Given the description of an element on the screen output the (x, y) to click on. 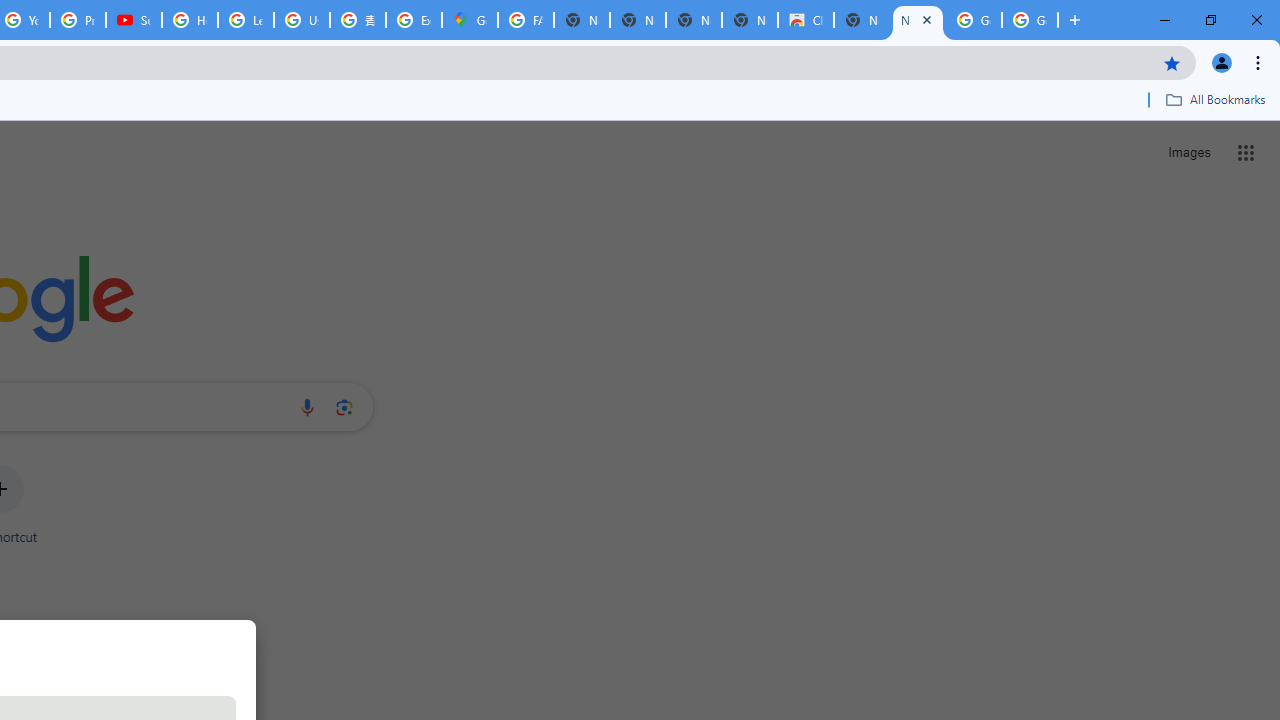
New Tab (917, 20)
Bookmark this tab (1171, 62)
Subscriptions - YouTube (134, 20)
New Tab (1075, 20)
Explore new street-level details - Google Maps Help (413, 20)
Minimize (1165, 20)
All Bookmarks (1215, 99)
Google Images (1030, 20)
Chrome Web Store (806, 20)
Chrome (1260, 62)
